Given the description of an element on the screen output the (x, y) to click on. 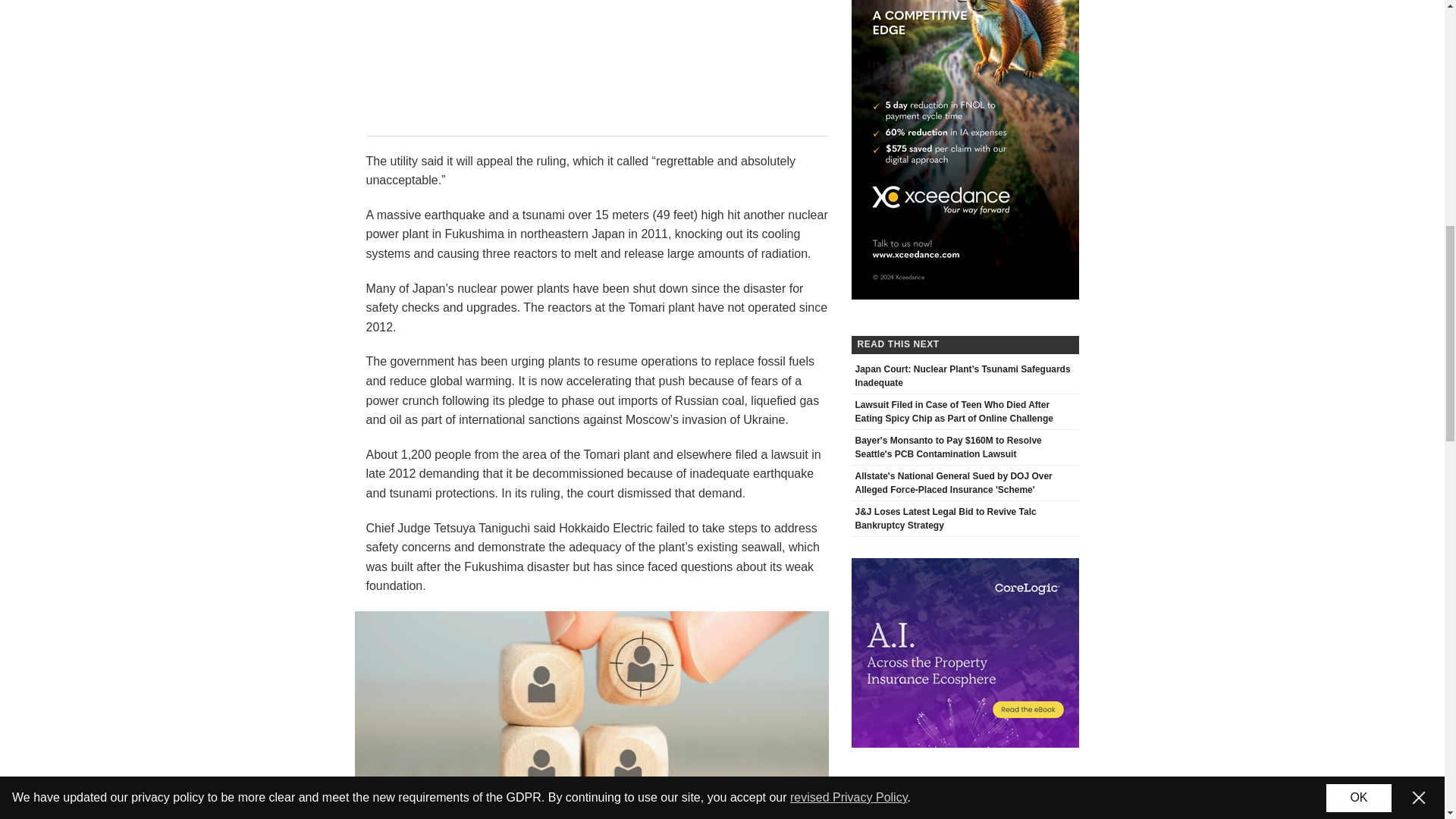
Sponsored by A.M. Best Company (591, 714)
Sponsored by CoreLogic (964, 652)
Sponsored by Xceedance (964, 36)
